Given the description of an element on the screen output the (x, y) to click on. 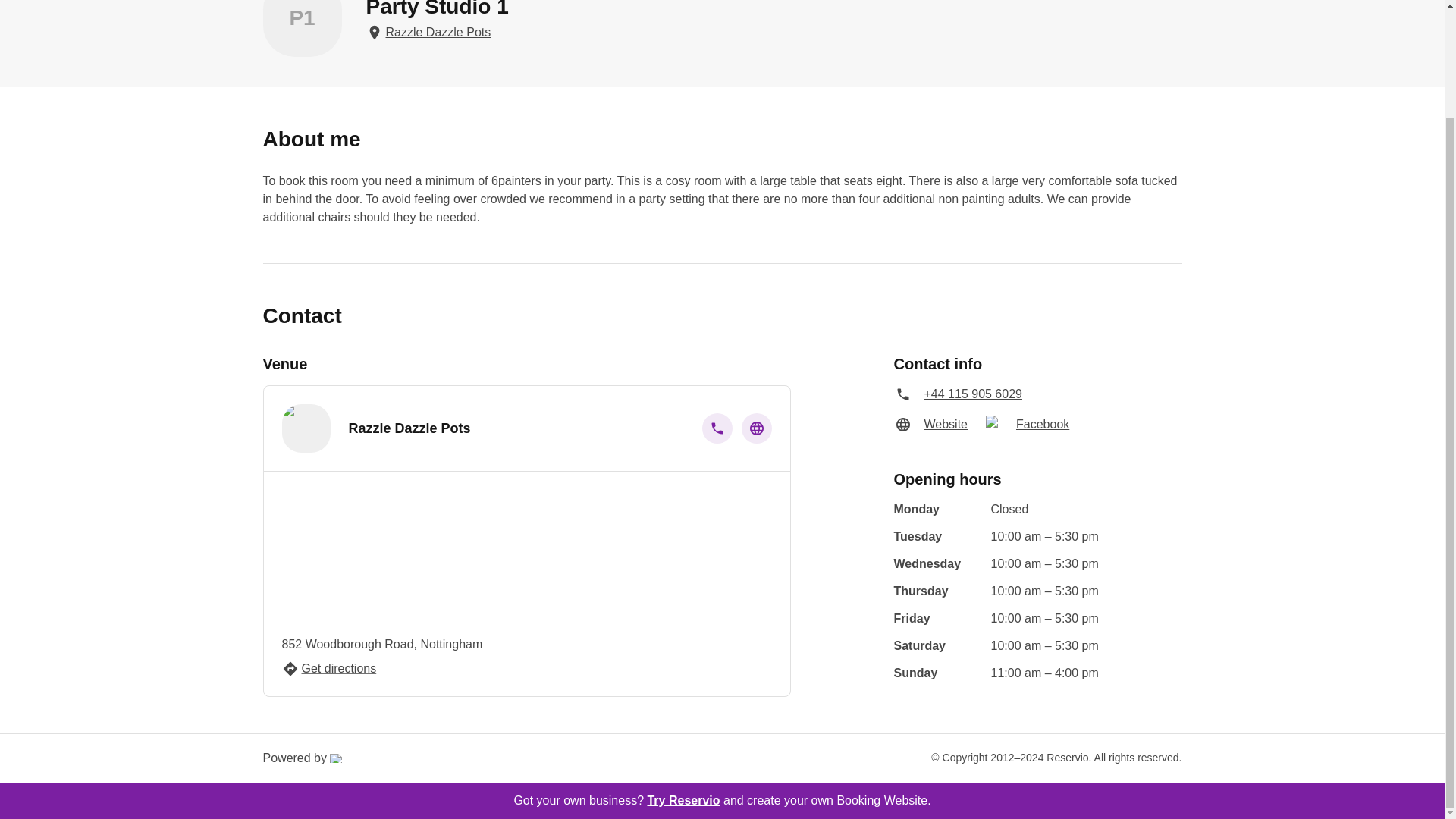
Website (945, 424)
Razzle Dazzle Pots (436, 32)
Try Reservio (682, 799)
Get directions (329, 669)
Facebook (1042, 424)
